Given the description of an element on the screen output the (x, y) to click on. 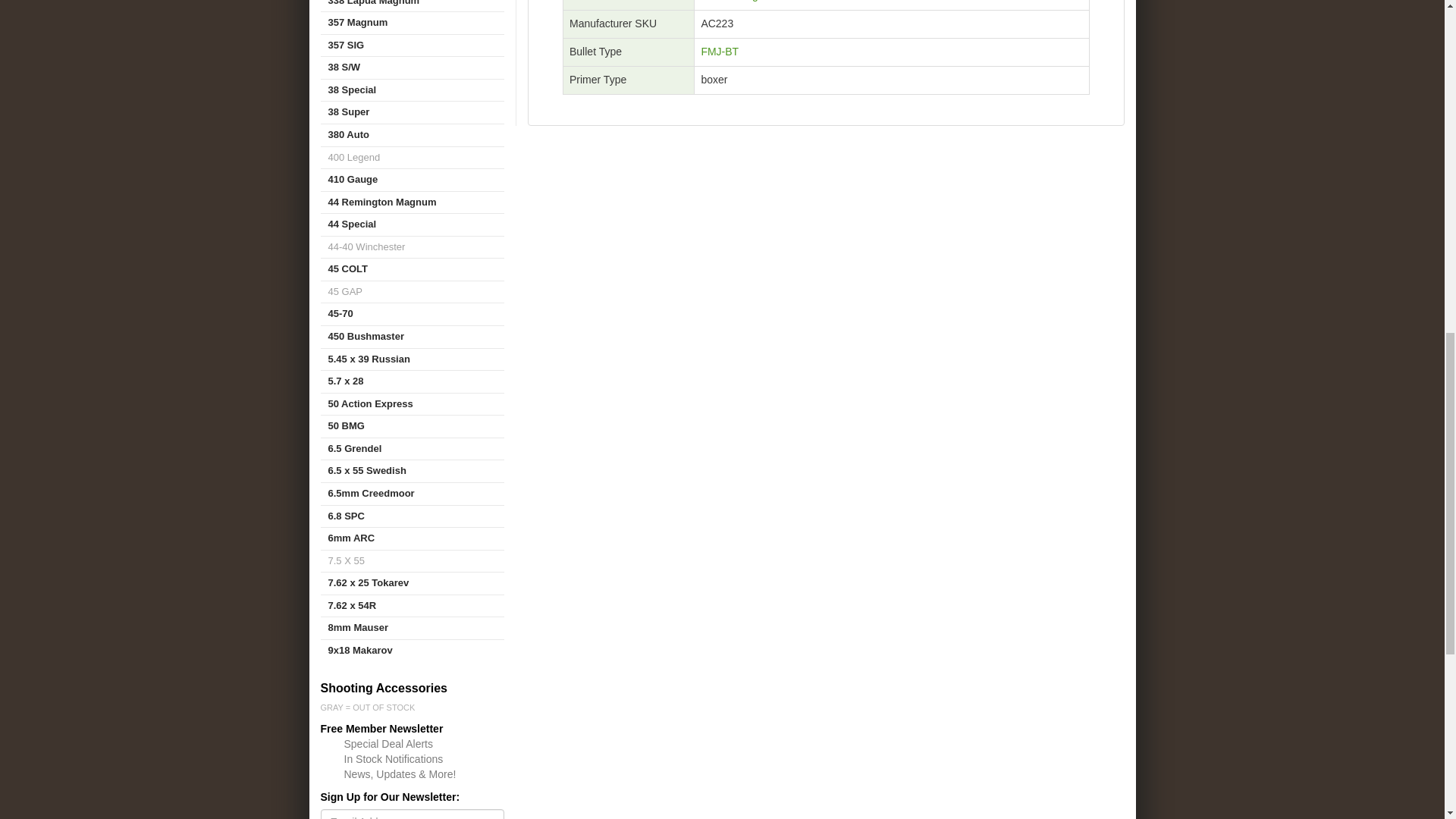
223 Remington (736, 0)
FMJ-BT (719, 51)
what is fmj? (719, 51)
223 ammo (736, 0)
